Given the description of an element on the screen output the (x, y) to click on. 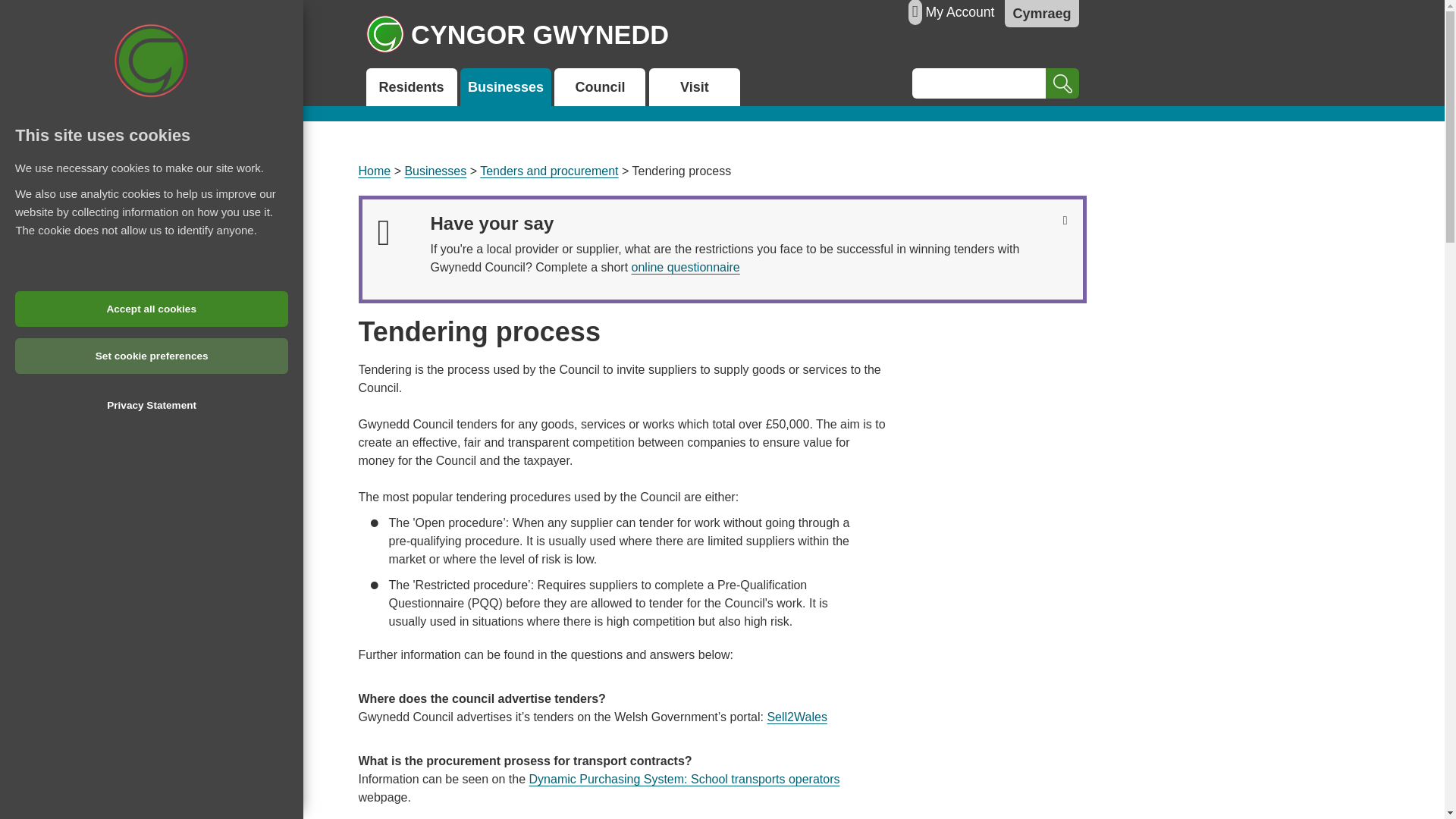
Search (1061, 82)
Businesses (505, 86)
Visit (694, 86)
Council (599, 86)
Search (1061, 82)
Business (505, 86)
My Account (960, 11)
Go to Home from here (374, 170)
Set cookie preferences (127, 355)
Sell2Wales (797, 716)
Go to Tenders and procurement from here (548, 170)
Businesses (434, 170)
Home (374, 170)
online questionnaire (685, 267)
Search (1061, 82)
